Given the description of an element on the screen output the (x, y) to click on. 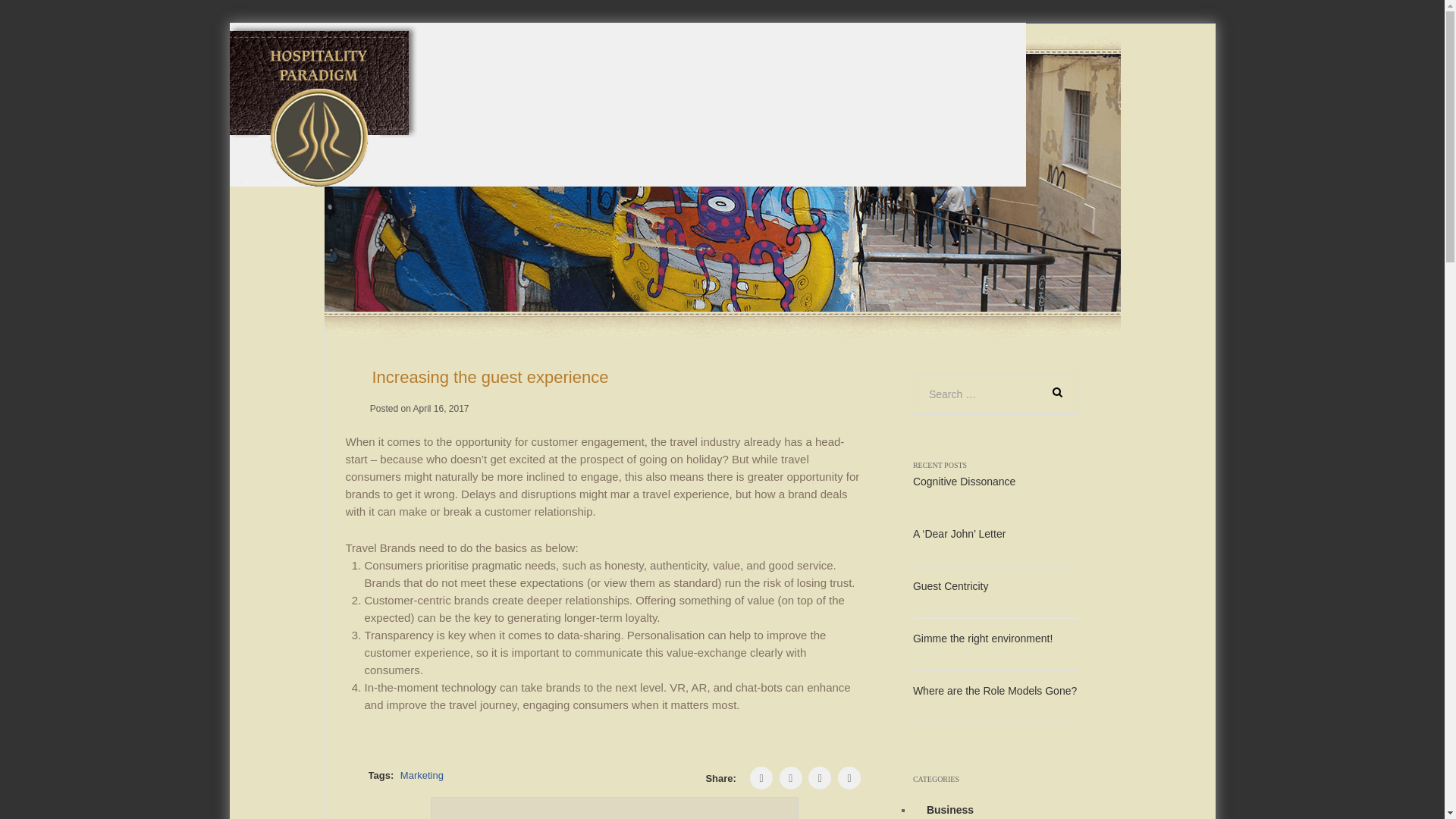
Programs (905, 61)
Home (766, 61)
Marketing (422, 774)
Contact (1044, 61)
Search (1052, 391)
Blog (975, 61)
Hospitality Paradigm (322, 103)
Search (1052, 391)
Cognitive Dissonance (963, 480)
Guest Centricity (950, 585)
Company (836, 61)
April 16, 2017 (440, 408)
Search (1052, 391)
